Given the description of an element on the screen output the (x, y) to click on. 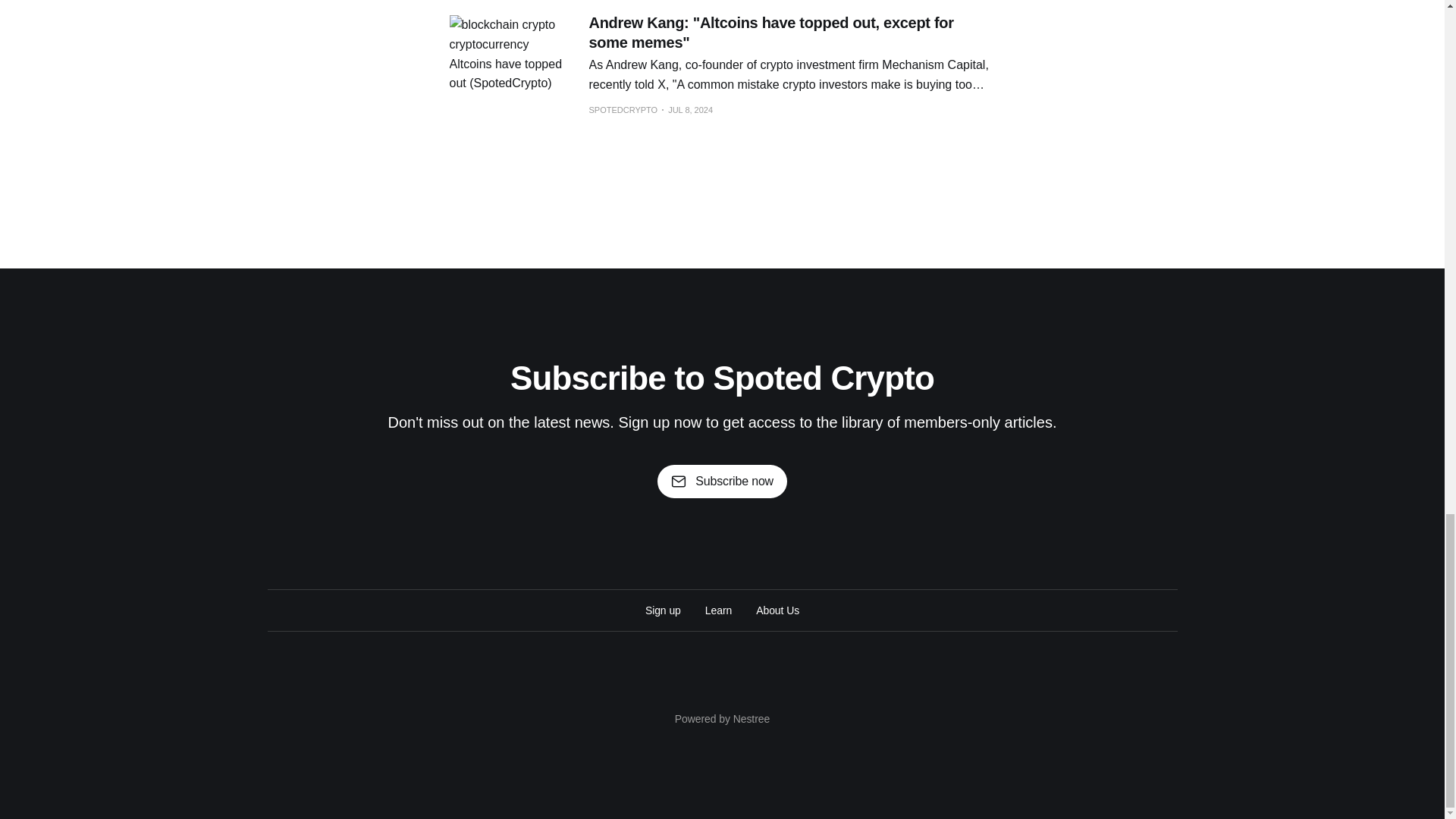
Learn (718, 610)
Subscribe now (722, 481)
About Us (777, 610)
Sign up (663, 610)
